Given the description of an element on the screen output the (x, y) to click on. 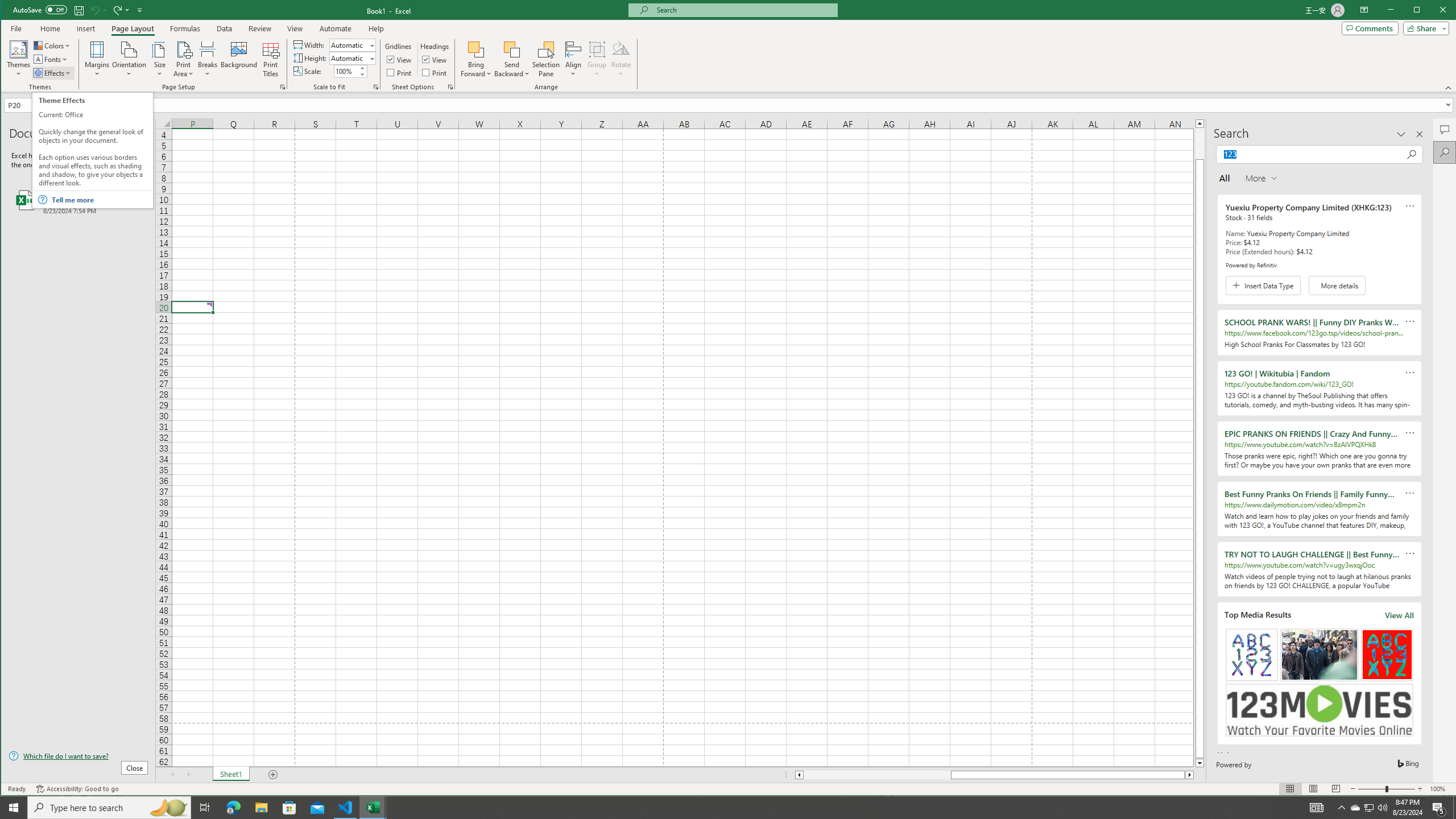
Show desktop (1454, 807)
Action Center, 5 new notifications (1439, 807)
Orientation (129, 59)
Fonts (51, 59)
Excel - 2 running windows (373, 807)
Effects (53, 72)
Type here to search (108, 807)
